Given the description of an element on the screen output the (x, y) to click on. 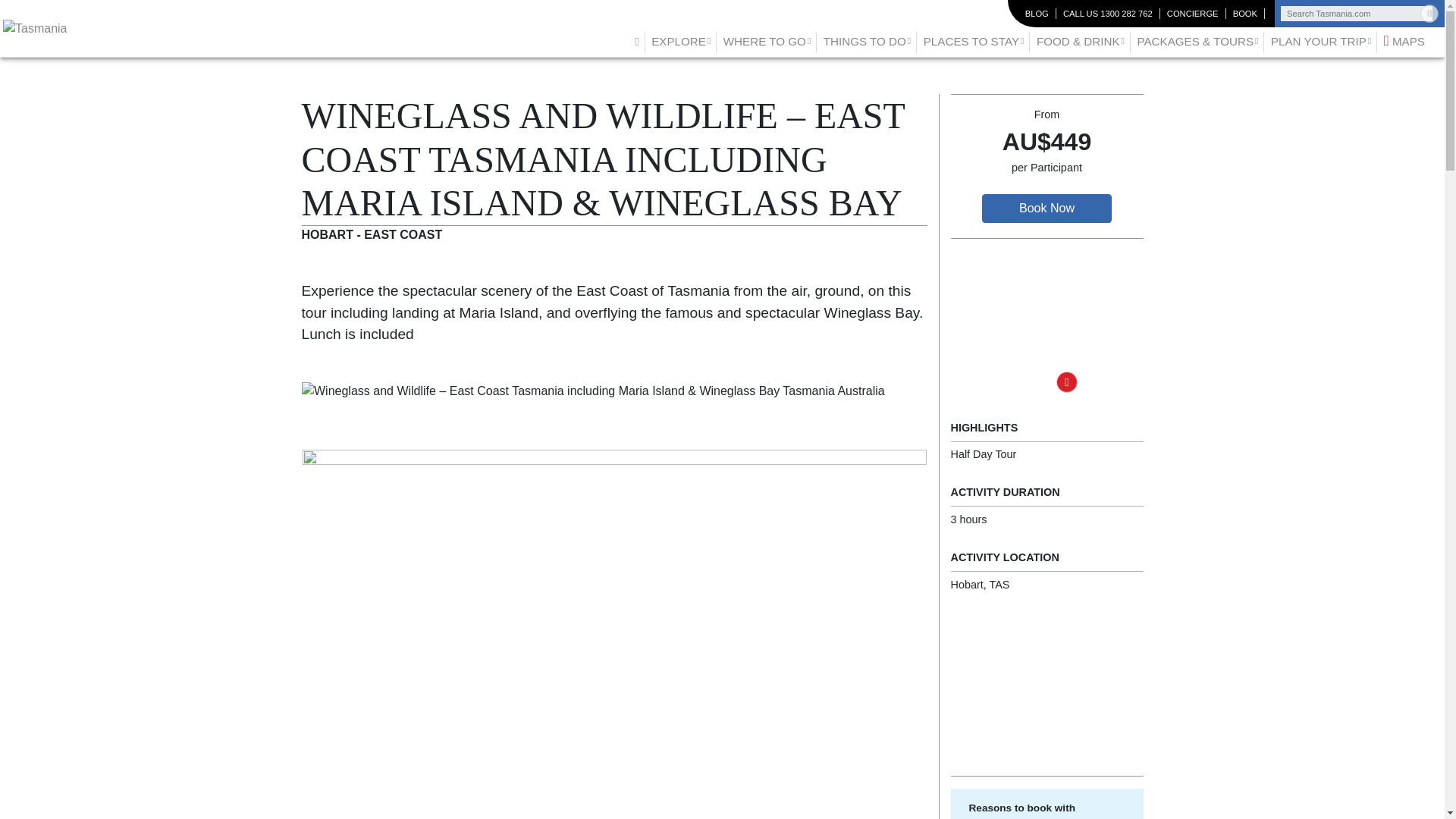
CONCIERGE (1192, 13)
PLAN YOUR TRIP (1320, 41)
Book Now (1046, 208)
THINGS TO DO (866, 41)
EXPLORE (680, 41)
MAPS (1403, 41)
BOOK (1245, 13)
CALL US 1300 282 762 (1107, 13)
WHERE TO GO (767, 41)
PLACES TO STAY (973, 41)
BLOG (1036, 13)
